Given the description of an element on the screen output the (x, y) to click on. 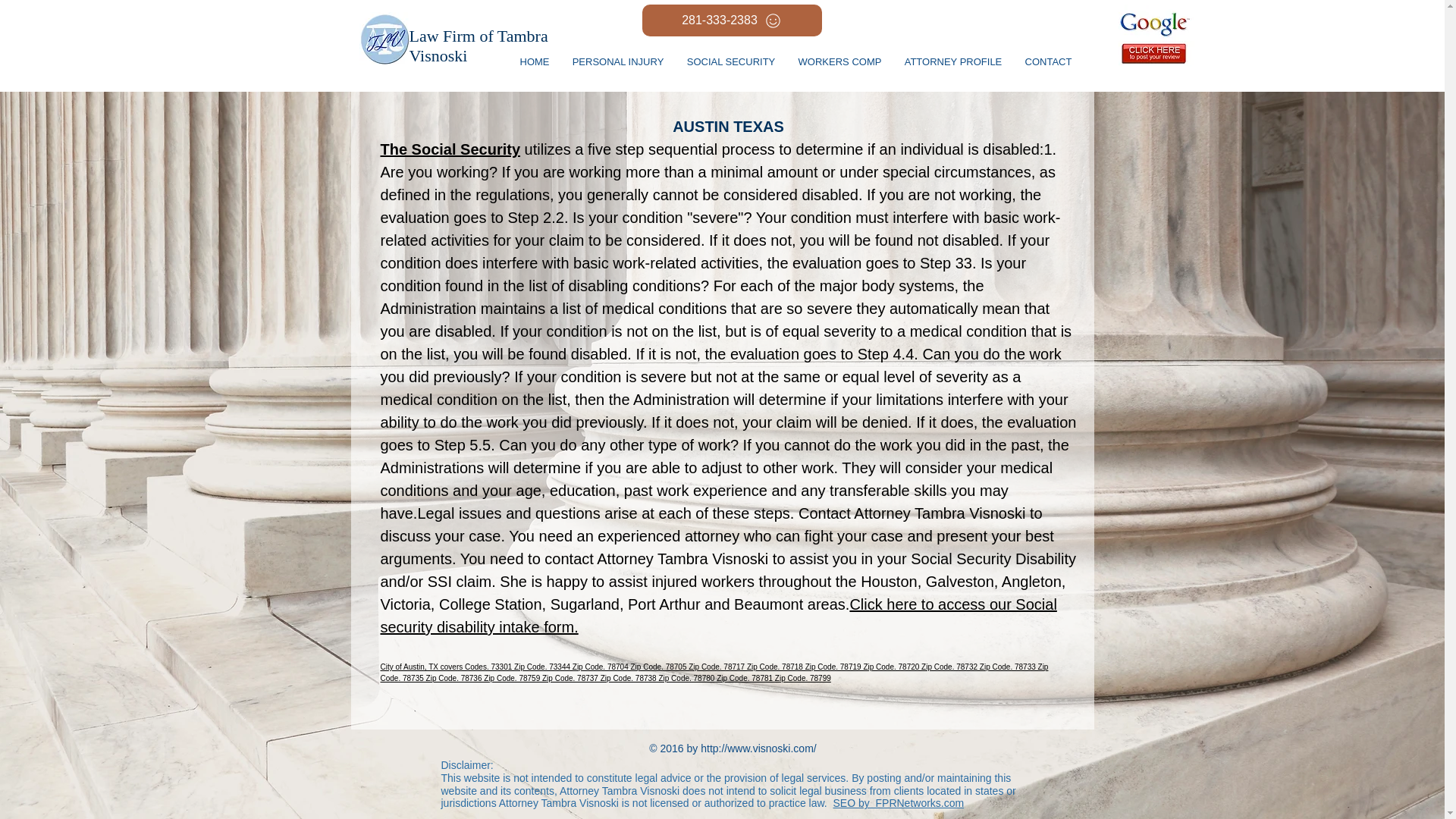
PERSONAL INJURY (617, 61)
WORKERS COMP (840, 61)
HOME (534, 61)
SOCIAL SECURITY (730, 61)
281-333-2383 (731, 20)
CONTACT (1048, 61)
ATTORNEY PROFILE (953, 61)
SEO by  FPRNetworks.com (897, 802)
